Given the description of an element on the screen output the (x, y) to click on. 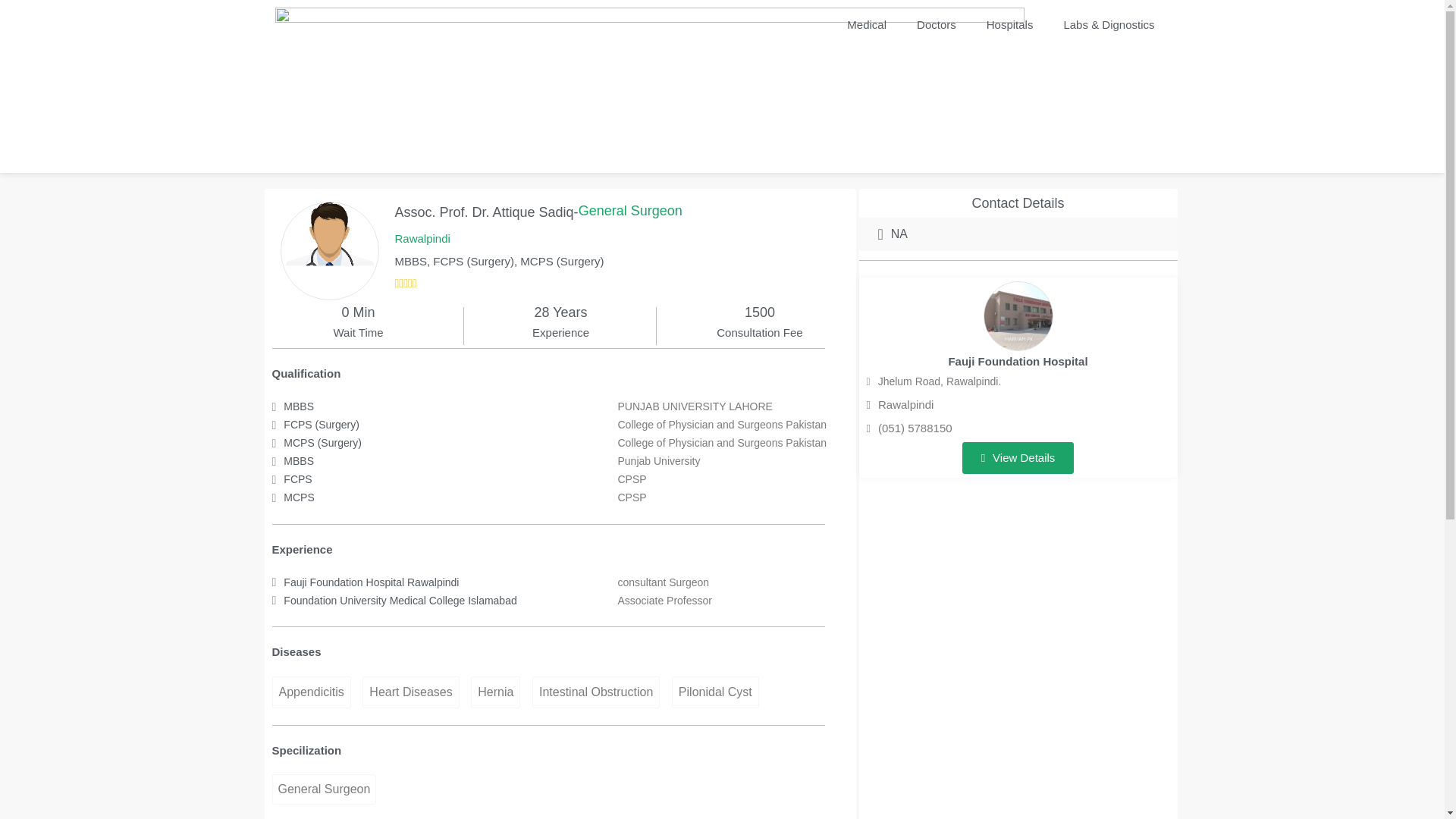
NA (892, 234)
Intestinal Obstruction (595, 692)
General Surgeon (322, 788)
Doctors (936, 24)
Hospitals (1009, 24)
Medical (866, 24)
General Surgeon (630, 210)
Pilonidal Cyst (714, 692)
View Details (1018, 458)
Appendicitis (310, 692)
Rawalpindi (900, 404)
Rawalpindi (421, 239)
Fauji Foundation Hospital (1017, 360)
Jhelum Road, Rawalpindi. (934, 381)
Hernia (494, 692)
